Given the description of an element on the screen output the (x, y) to click on. 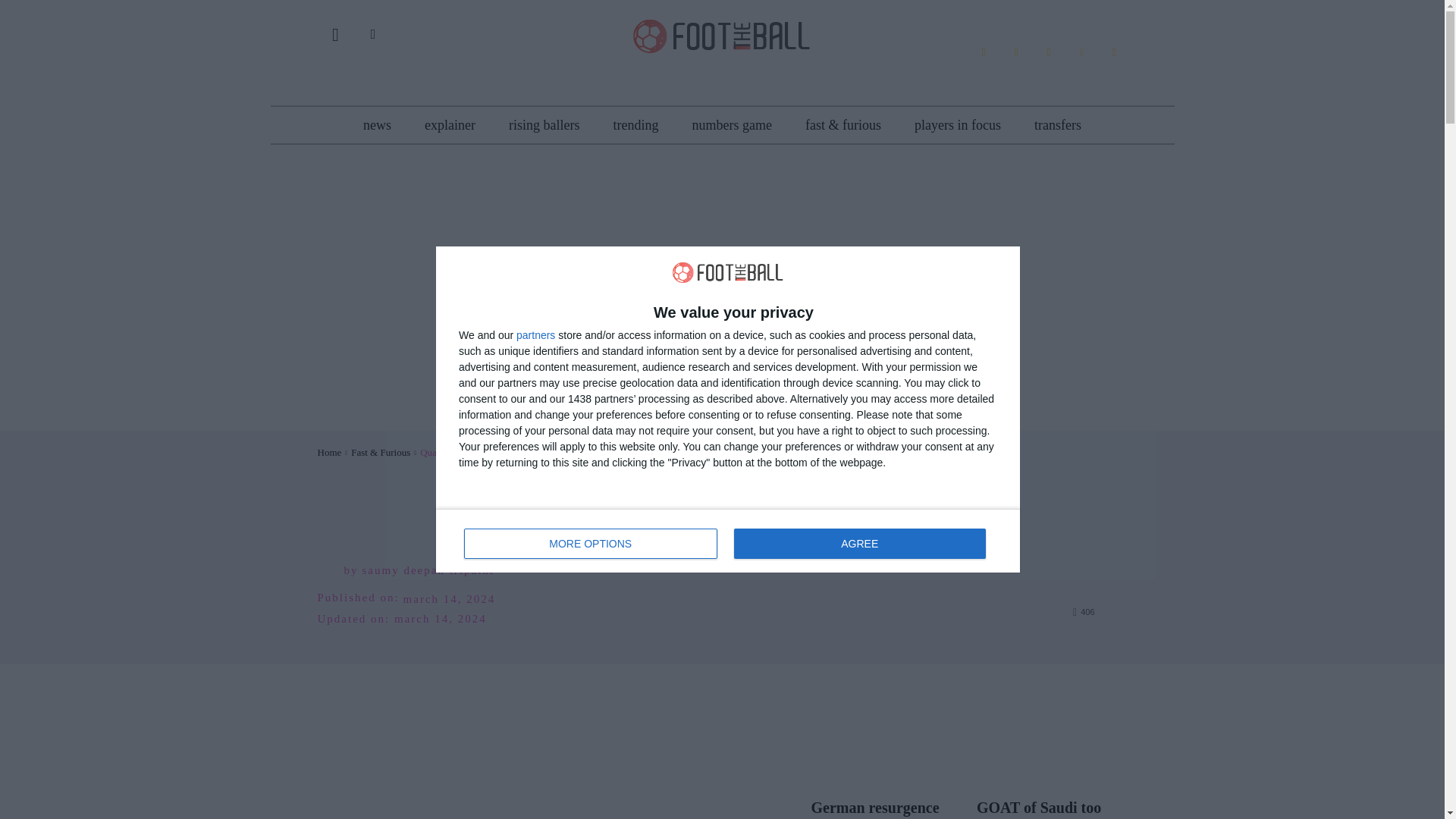
Twitter (1080, 52)
MORE OPTIONS (590, 543)
Instagram (1048, 52)
Youtube (1113, 52)
Flipboard (1016, 52)
partners (535, 335)
Saumy Deepak Tripathi (330, 569)
Foottheball (727, 540)
Facebook (721, 34)
